Given the description of an element on the screen output the (x, y) to click on. 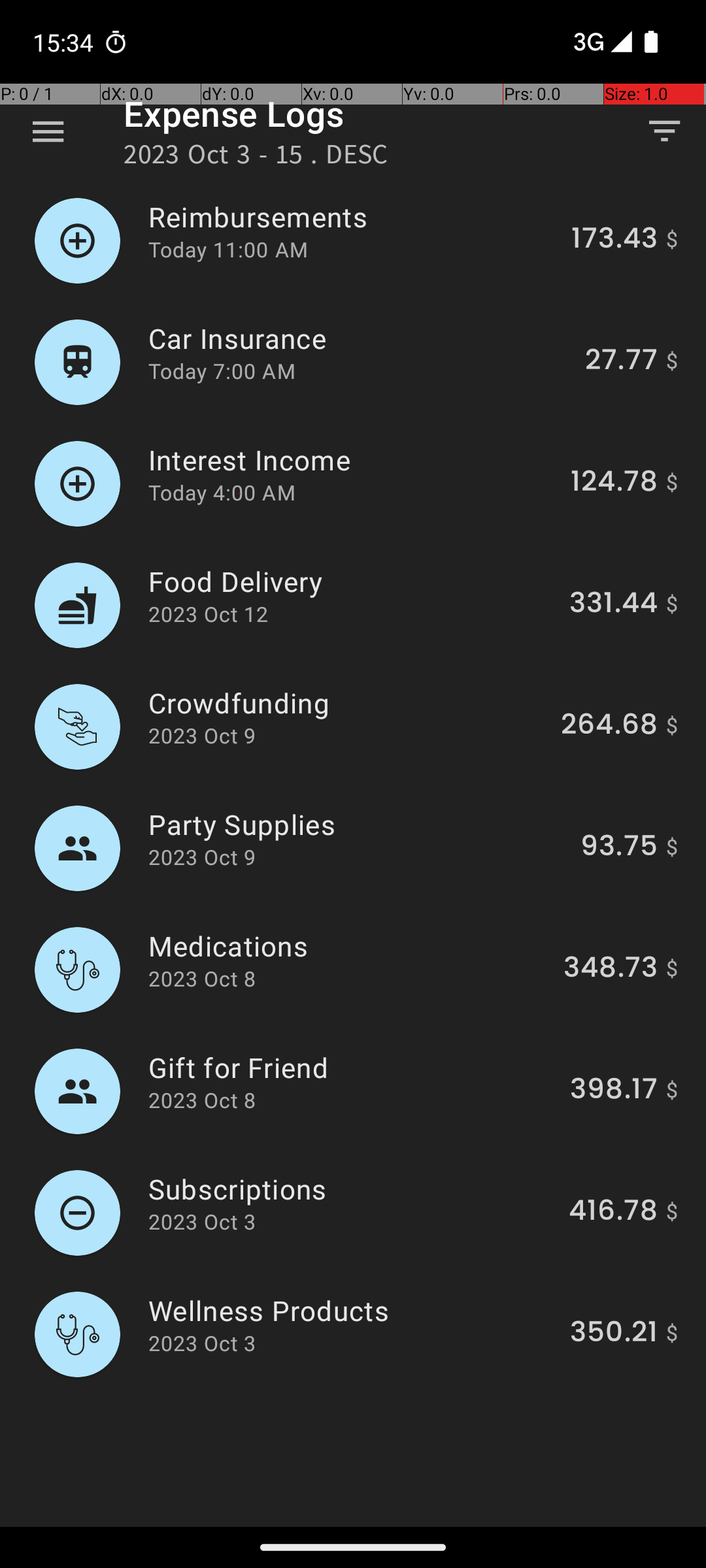
2023 Oct 3 - 15 . DESC Element type: android.widget.TextView (255, 157)
Reimbursements Element type: android.widget.TextView (351, 216)
173.43 Element type: android.widget.TextView (614, 240)
Today 7:00 AM Element type: android.widget.TextView (221, 370)
27.77 Element type: android.widget.TextView (621, 362)
Today 4:00 AM Element type: android.widget.TextView (221, 492)
124.78 Element type: android.widget.TextView (614, 483)
Food Delivery Element type: android.widget.TextView (350, 580)
331.44 Element type: android.widget.TextView (613, 605)
Crowdfunding Element type: android.widget.TextView (346, 702)
264.68 Element type: android.widget.TextView (609, 726)
93.75 Element type: android.widget.TextView (618, 848)
Medications Element type: android.widget.TextView (348, 945)
348.73 Element type: android.widget.TextView (610, 969)
398.17 Element type: android.widget.TextView (613, 1091)
2023 Oct 3 Element type: android.widget.TextView (201, 1221)
416.78 Element type: android.widget.TextView (613, 1212)
350.21 Element type: android.widget.TextView (613, 1334)
